Given the description of an element on the screen output the (x, y) to click on. 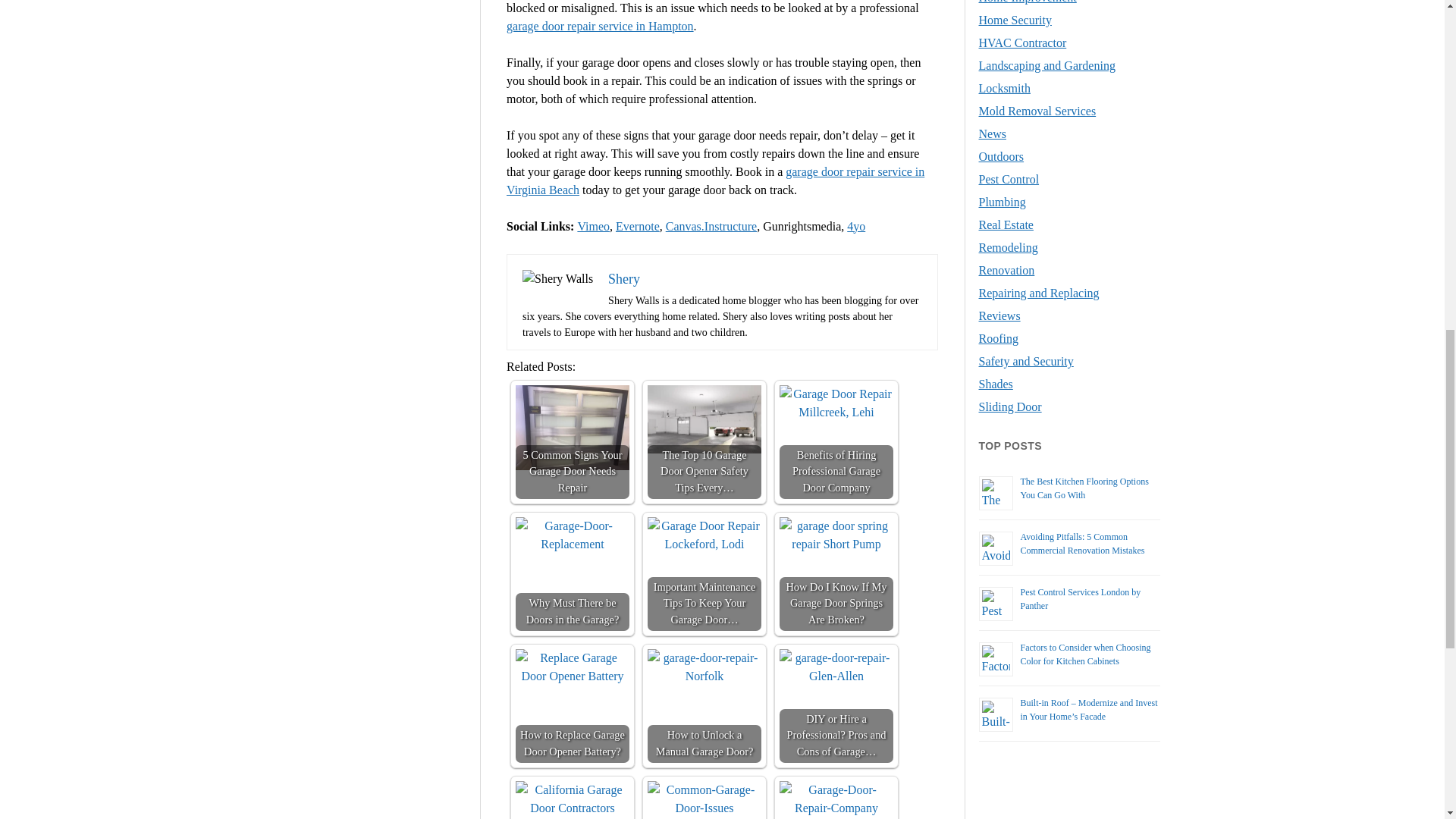
Benefits of Hiring Professional Garage Door Company (835, 441)
Shery (624, 278)
How to Replace Garage Door Opener Battery? (571, 667)
Why Must There be Doors in the Garage? (571, 573)
5 Common Signs Your Garage Door Needs Repair (571, 427)
Canvas.Instructure (711, 226)
garage door repair service in Virginia Beach (715, 180)
Troubleshooting Common Garage Door Issues (704, 799)
5 Common Signs Your Garage Door Needs Repair (571, 441)
How Do I Know If My Garage Door Springs Are Broken? (835, 534)
Benefits of Hiring Professional Garage Door Company (835, 402)
